Given the description of an element on the screen output the (x, y) to click on. 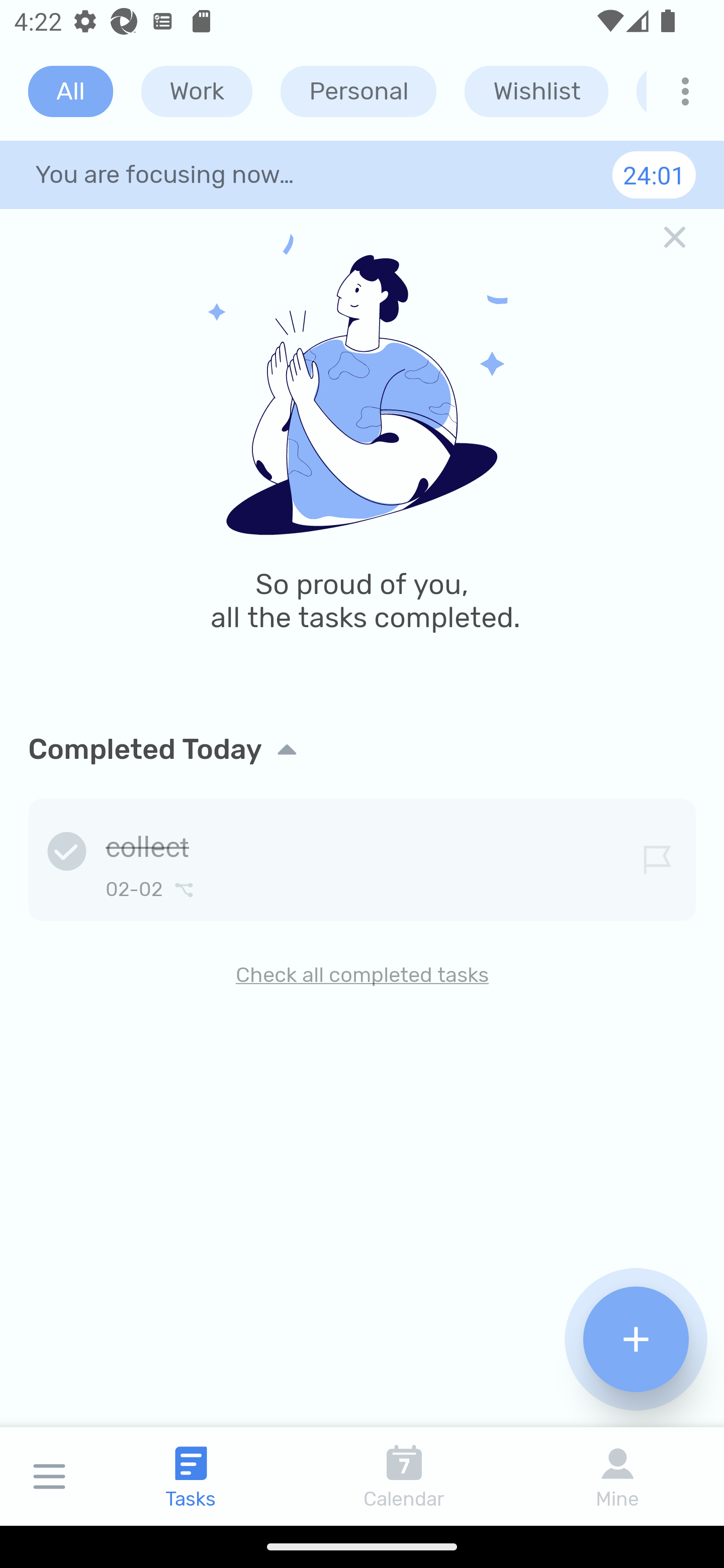
All (70, 91)
Work (196, 91)
Personal (358, 91)
Wishlist (536, 91)
You are focusing now… 24:02 (362, 174)
So proud of you,
 all the tasks completed. (362, 457)
Completed Today (362, 749)
collect 02-02 (362, 856)
Check all completed tasks (361, 974)
Tasks (190, 1475)
Calendar (404, 1475)
Mine (617, 1475)
